Given the description of an element on the screen output the (x, y) to click on. 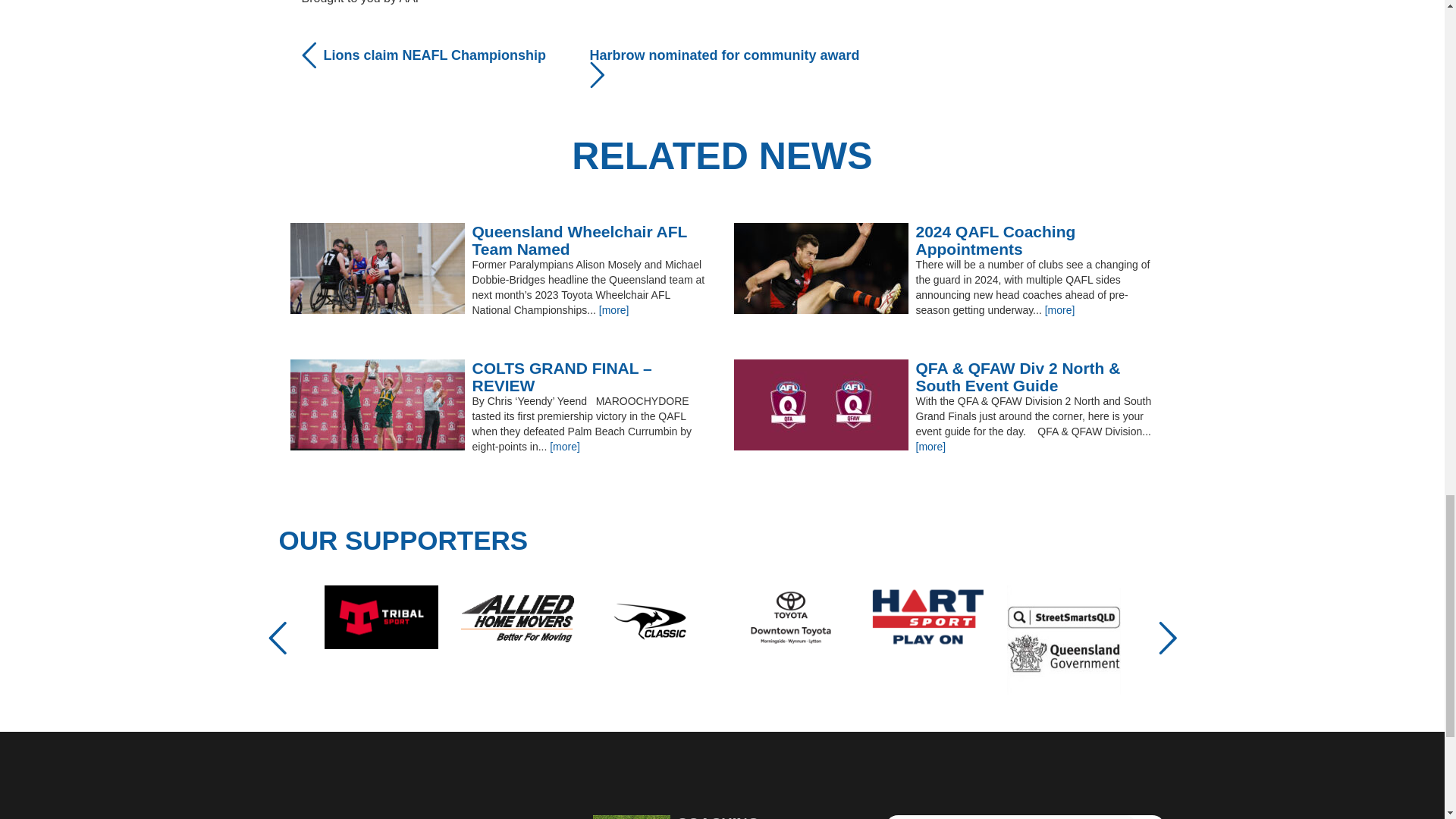
2024 QAFL Coaching Appointments (943, 239)
Queensland Wheelchair AFL Team Named (499, 239)
